Given the description of an element on the screen output the (x, y) to click on. 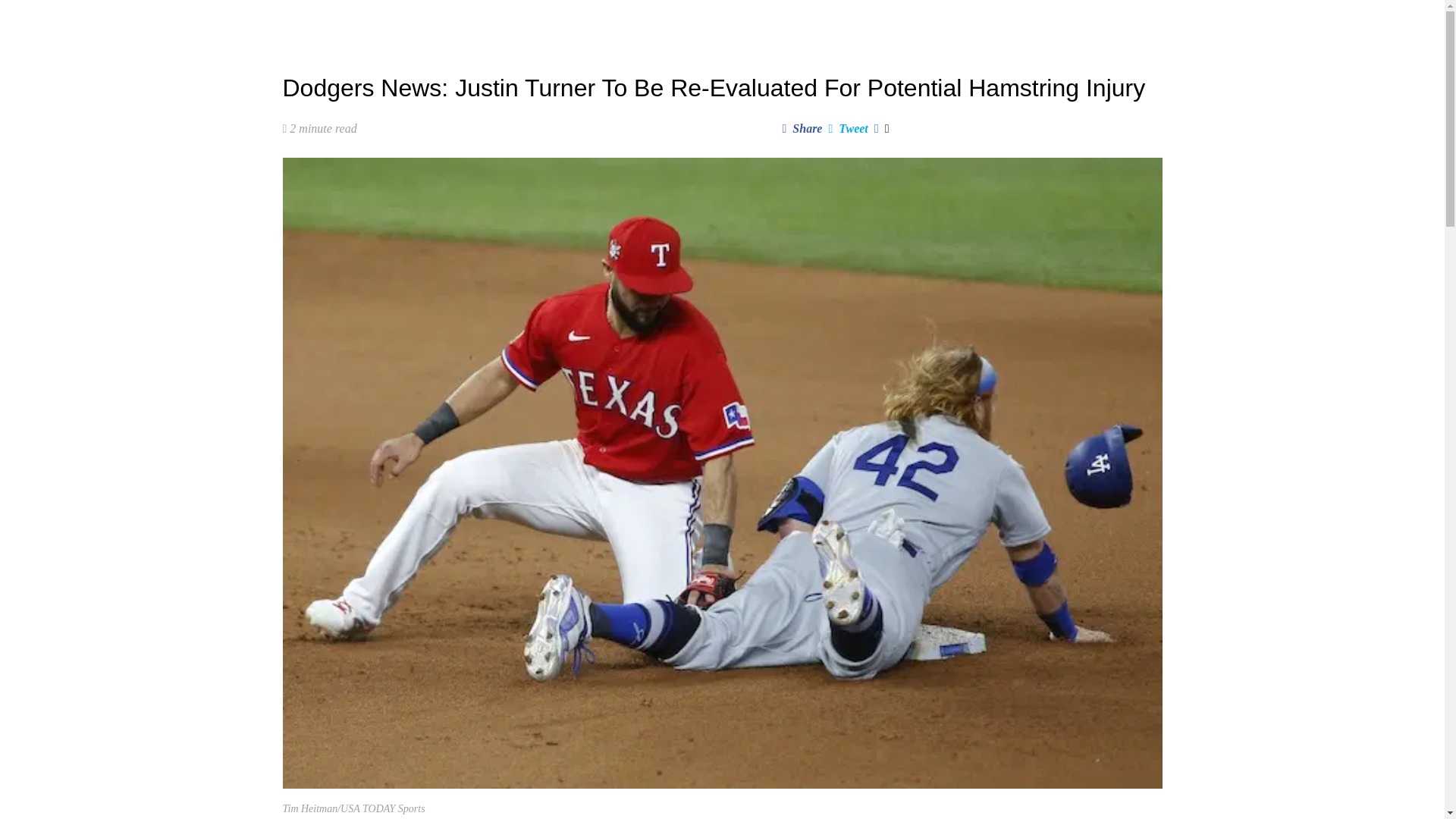
Schedules (578, 22)
Team (640, 22)
Dodgers News (440, 22)
Dodger Blue (322, 22)
Rumors (513, 22)
